Given the description of an element on the screen output the (x, y) to click on. 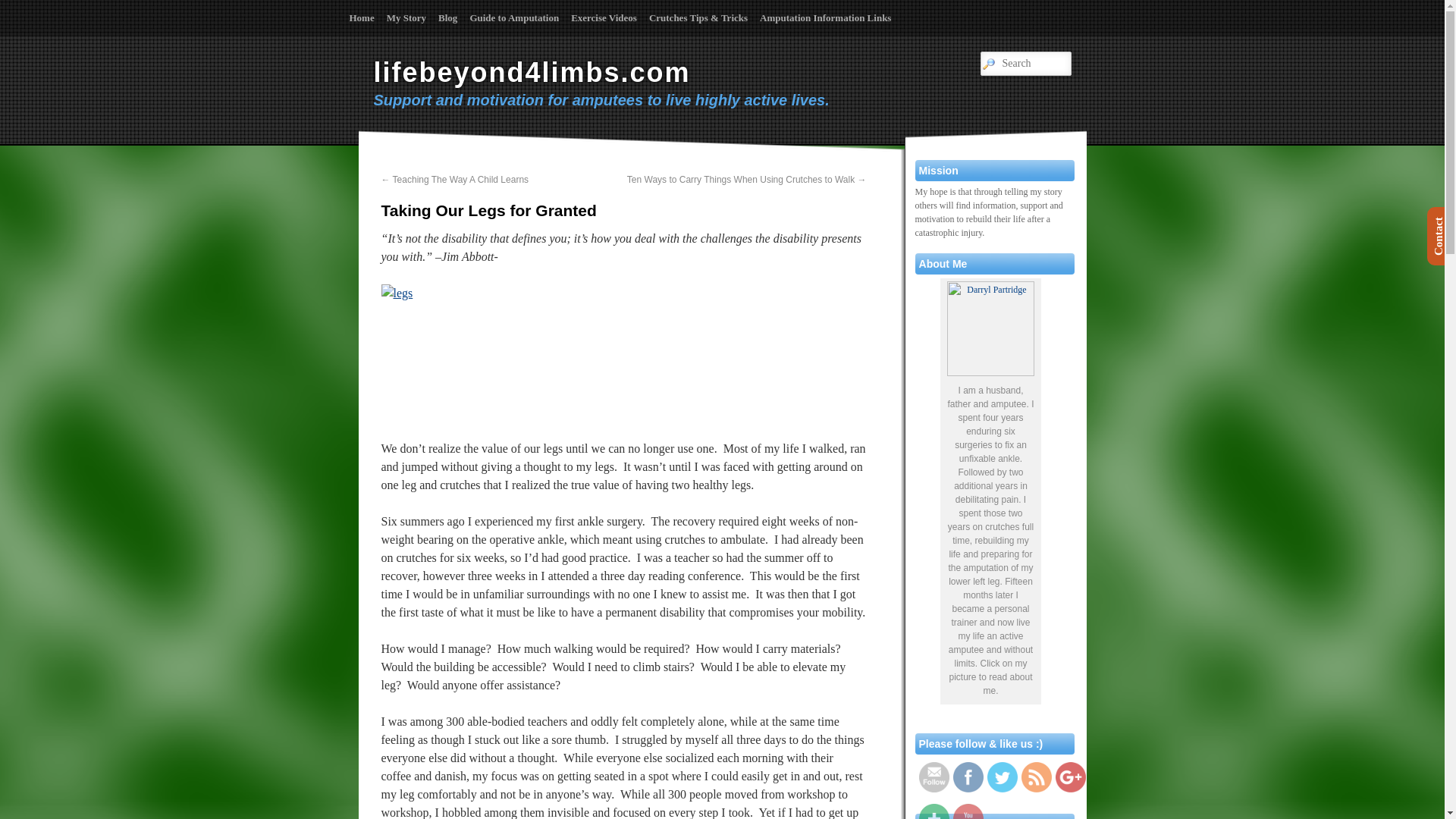
SHARE (933, 811)
Search (20, 7)
RSS (1035, 777)
Amputation Information Links (825, 18)
Guide to Amputation (513, 18)
My Story (406, 18)
Exercise Videos (603, 18)
lifebeyond4limbs.com (531, 71)
Home (361, 18)
Twitter (1002, 777)
